Given the description of an element on the screen output the (x, y) to click on. 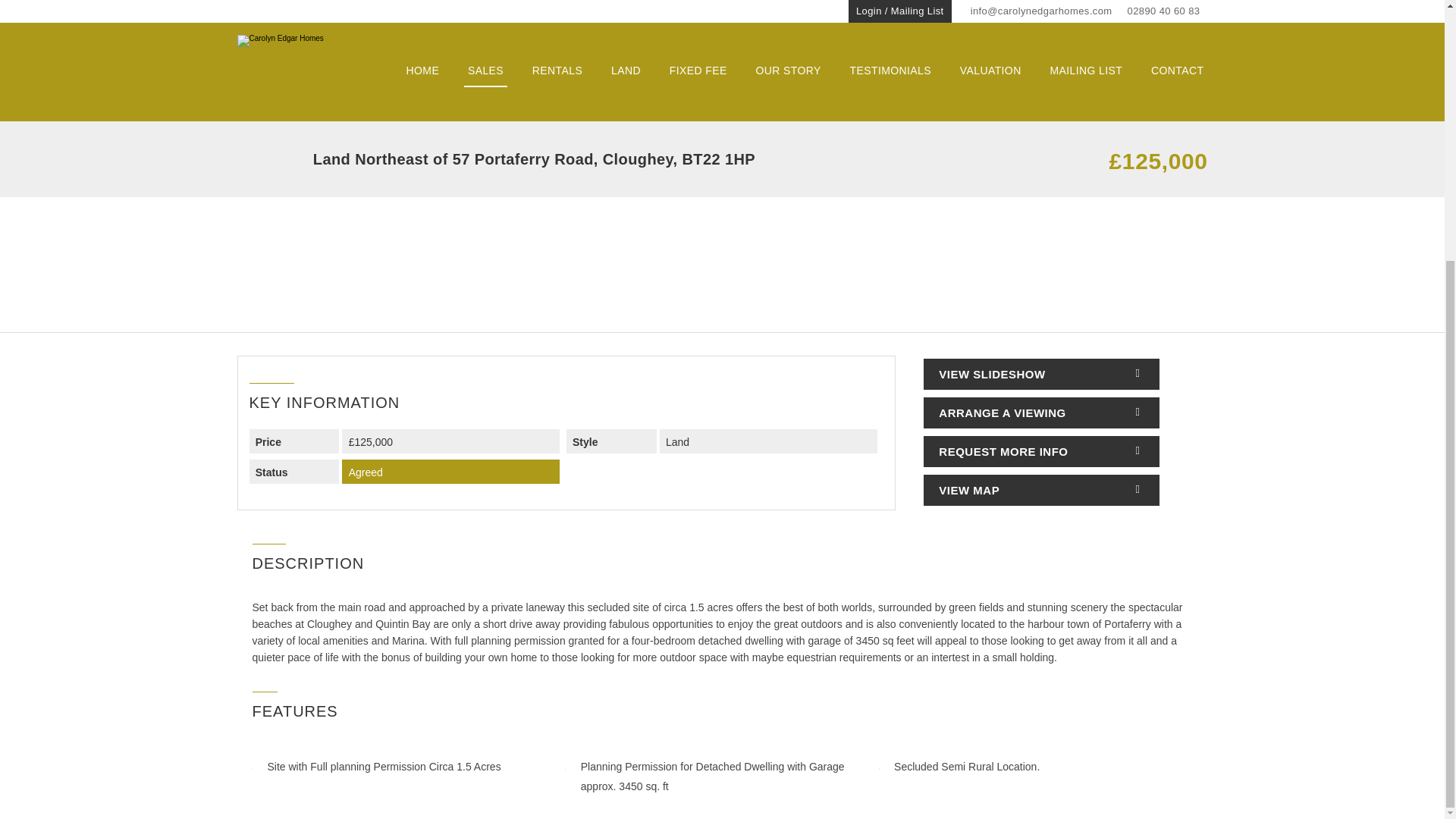
VIEW MAP (1040, 490)
VIEW SLIDESHOW (1040, 373)
REQUEST MORE INFO (1040, 450)
ARRANGE A VIEWING (1040, 412)
